Given the description of an element on the screen output the (x, y) to click on. 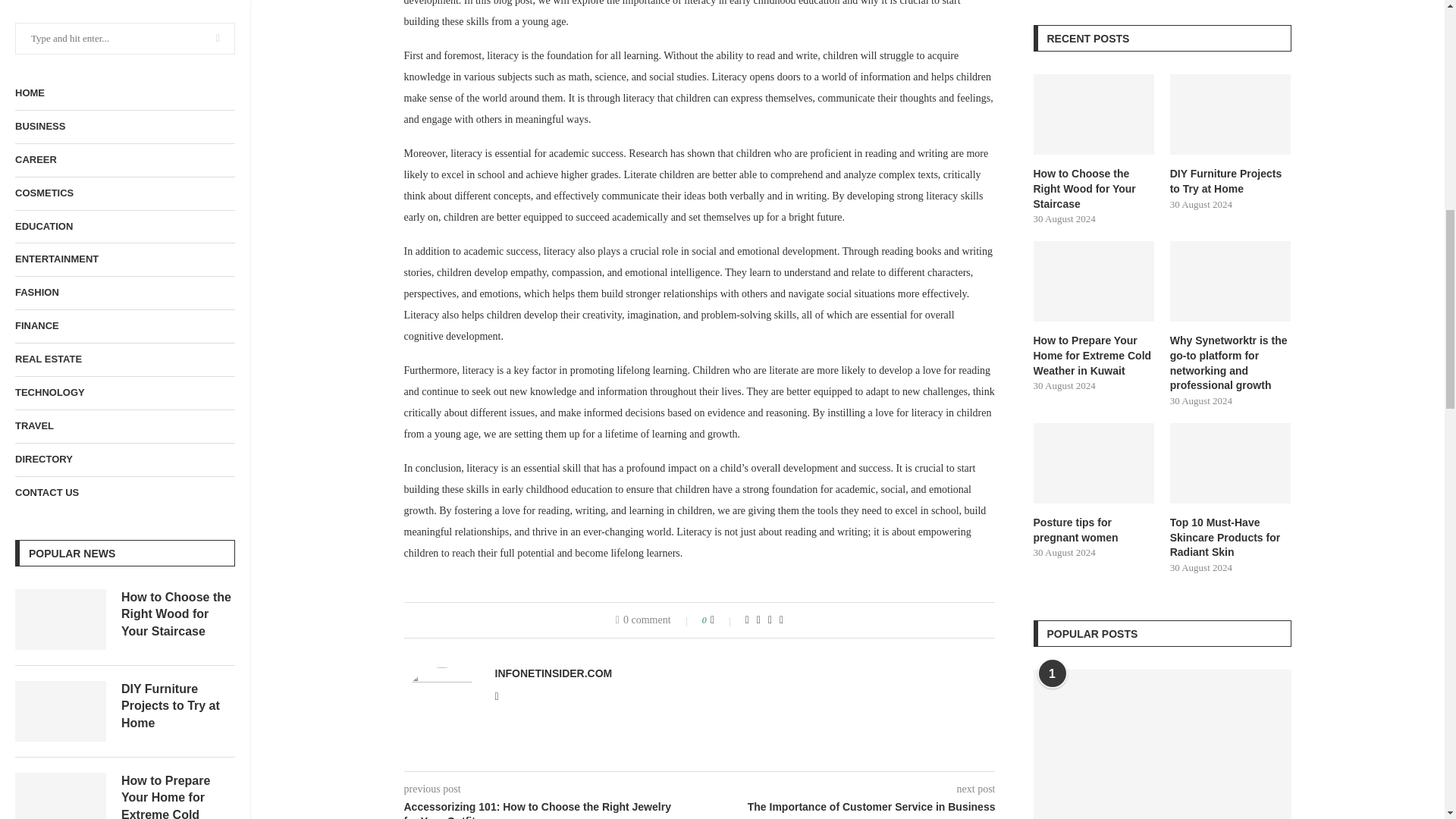
Author infonetinsider.com (553, 673)
Posture tips for pregnant women (60, 206)
Posture tips for pregnant women (177, 192)
Like (722, 620)
How to Prepare Your Home for Extreme Cold Weather in Kuwait (177, 11)
Posture tips for pregnant women (177, 192)
How to Prepare Your Home for Extreme Cold Weather in Kuwait (177, 11)
